Given the description of an element on the screen output the (x, y) to click on. 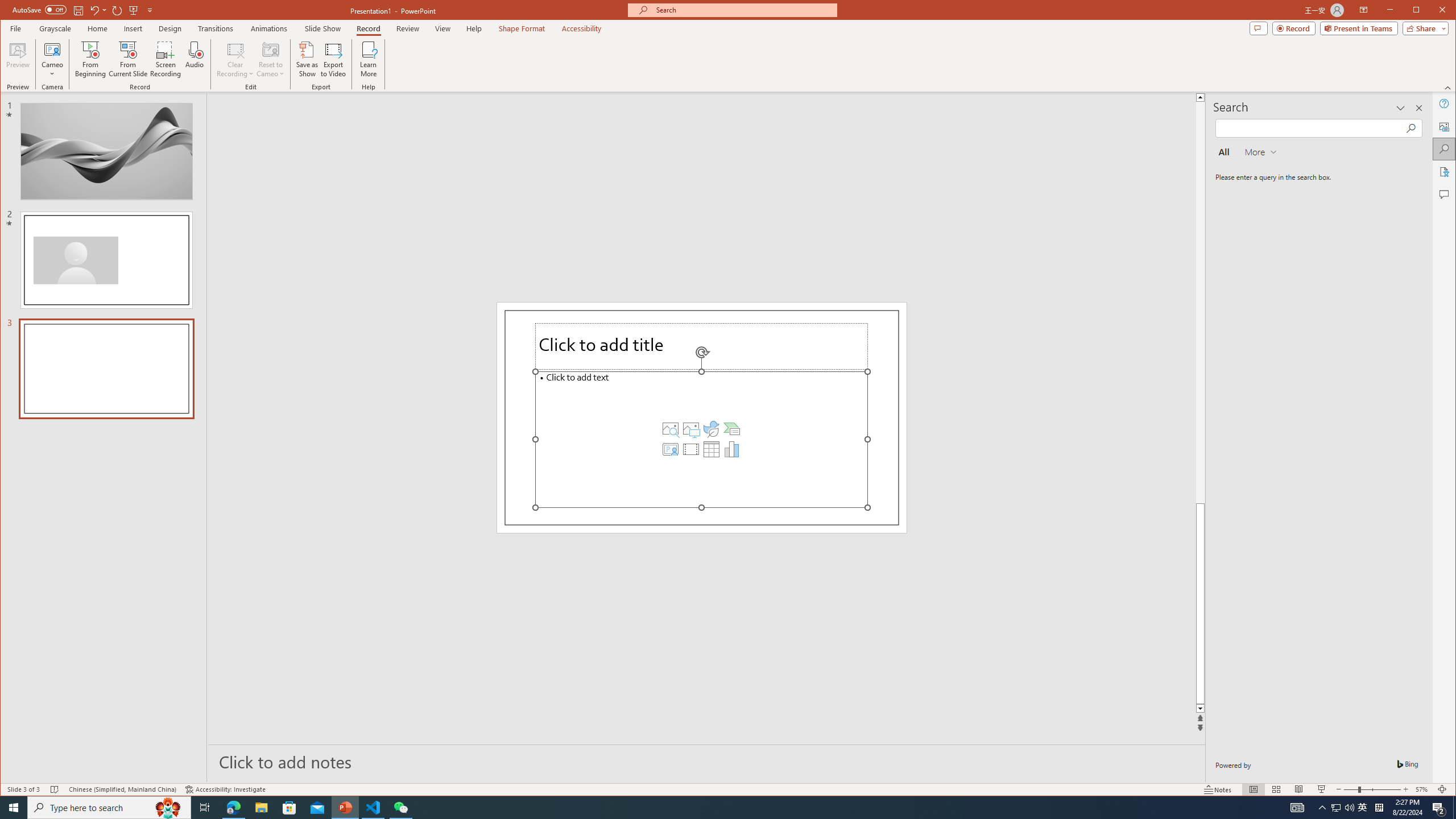
Insert Chart (731, 449)
Screen Recording (165, 59)
Zoom 57% (1422, 789)
Save as Show (307, 59)
WeChat - 1 running window (400, 807)
